Given the description of an element on the screen output the (x, y) to click on. 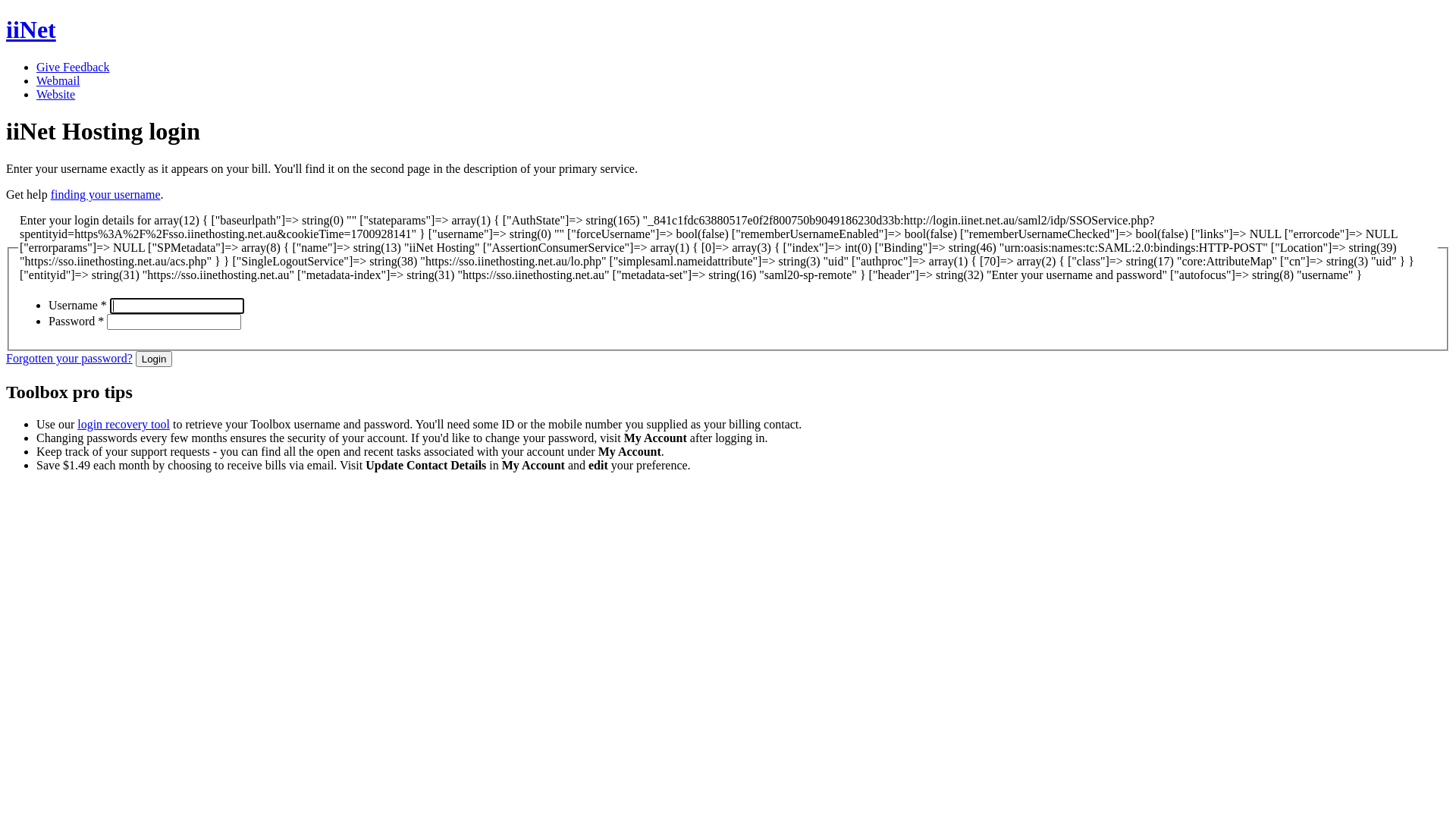
Give Feedback Element type: text (72, 66)
Webmail Element type: text (57, 80)
login recovery tool Element type: text (123, 423)
finding your username Element type: text (105, 194)
iiNet Element type: text (727, 29)
Forgotten your password? Element type: text (69, 357)
Website Element type: text (55, 93)
Login Element type: text (153, 359)
